Given the description of an element on the screen output the (x, y) to click on. 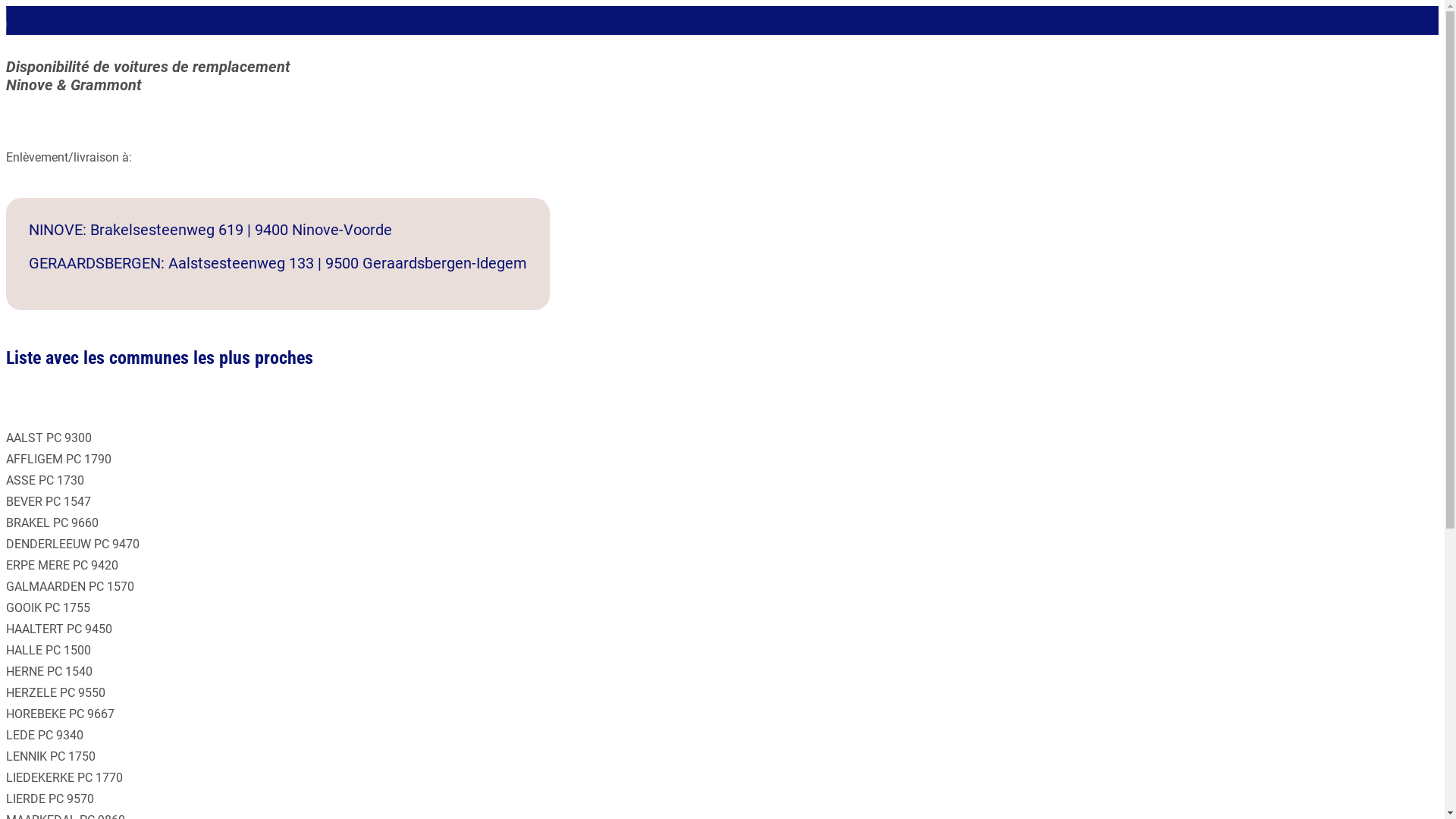
ACCUEIL Element type: text (21, 17)
NEDERLANDS Element type: text (21, 31)
